Given the description of an element on the screen output the (x, y) to click on. 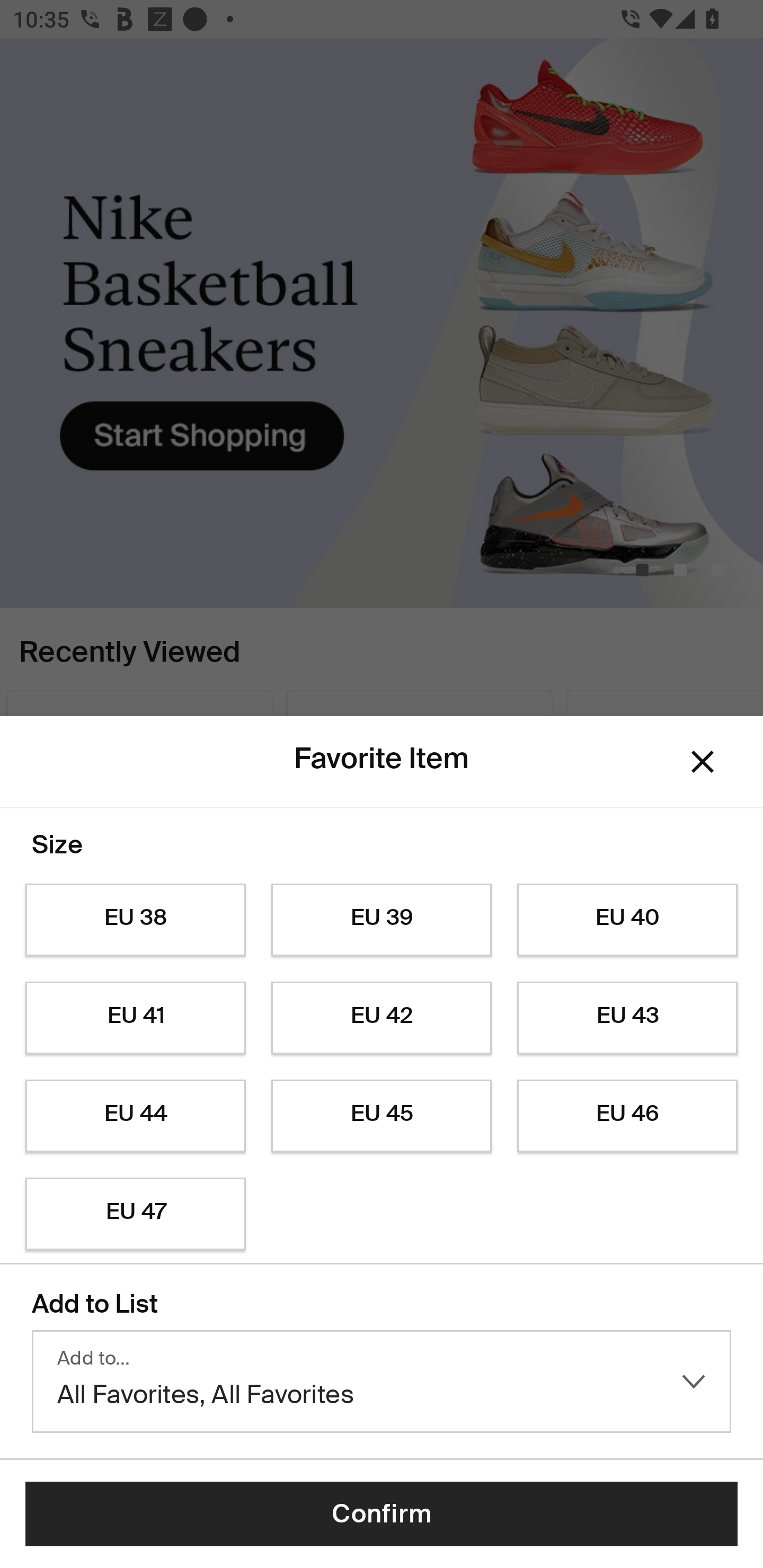
Dismiss (702, 760)
EU 38 (135, 919)
EU 39 (381, 919)
EU 40 (627, 919)
EU 41 (135, 1018)
EU 42 (381, 1018)
EU 43 (627, 1018)
EU 44 (135, 1116)
EU 45 (381, 1116)
EU 46 (627, 1116)
EU 47 (135, 1214)
Add to… All Favorites, All Favorites (381, 1381)
Confirm (381, 1513)
